Given the description of an element on the screen output the (x, y) to click on. 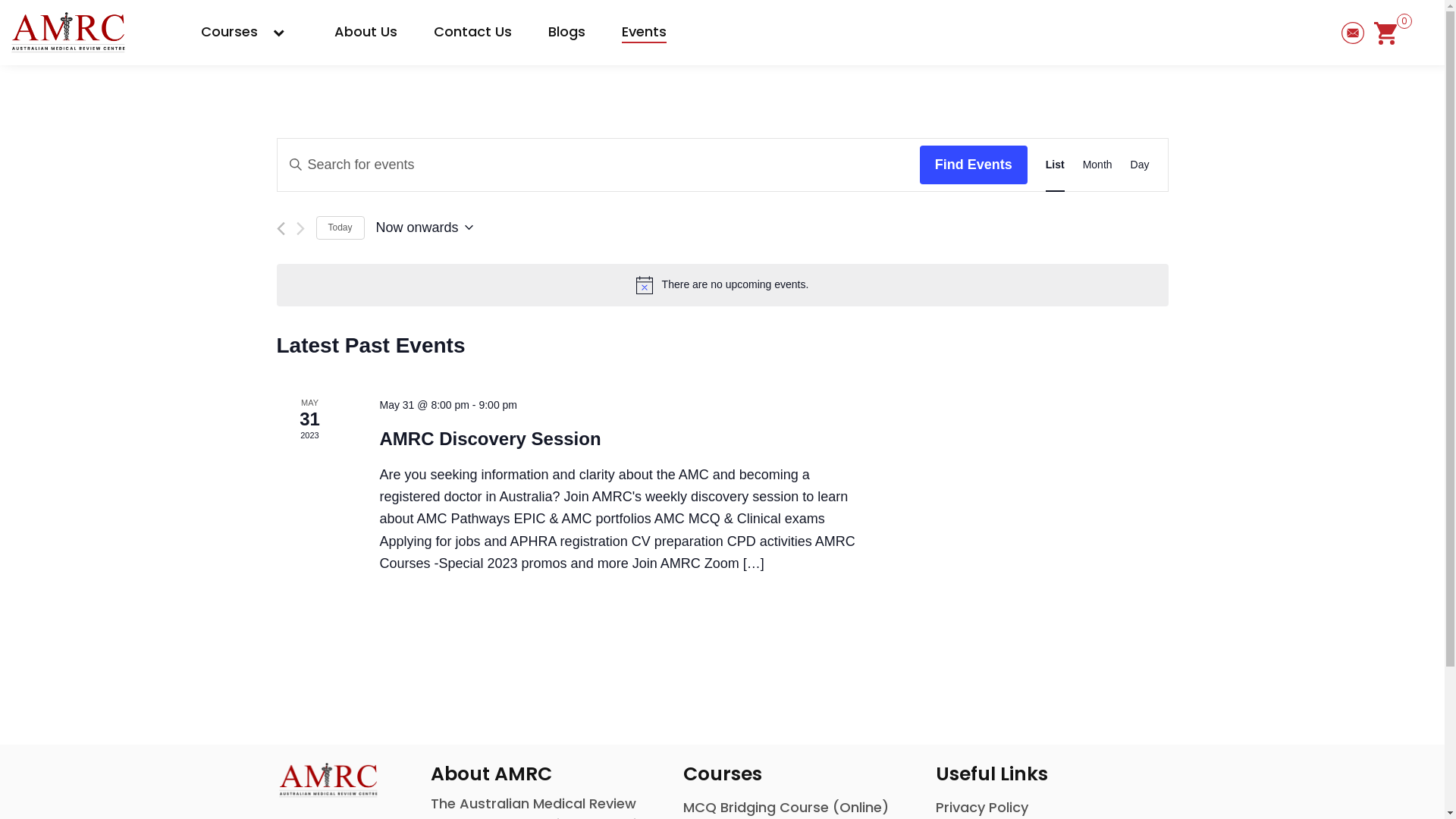
Blogs Element type: text (566, 31)
List Element type: text (1054, 164)
Day Element type: text (1139, 164)
Next Events Element type: hover (299, 228)
Events Element type: text (643, 32)
Previous Events Element type: hover (280, 228)
Month Element type: text (1097, 164)
Contact Us Element type: text (472, 31)
0 Element type: text (1385, 31)
MCQ Bridging Course (Online) Element type: text (785, 806)
About Us Element type: text (365, 31)
AMRC Discovery Session Element type: text (489, 438)
Courses Element type: text (249, 31)
Privacy Policy Element type: text (981, 806)
Today Element type: text (339, 227)
Find Events Element type: text (973, 164)
Now onwards Element type: text (424, 228)
